Given the description of an element on the screen output the (x, y) to click on. 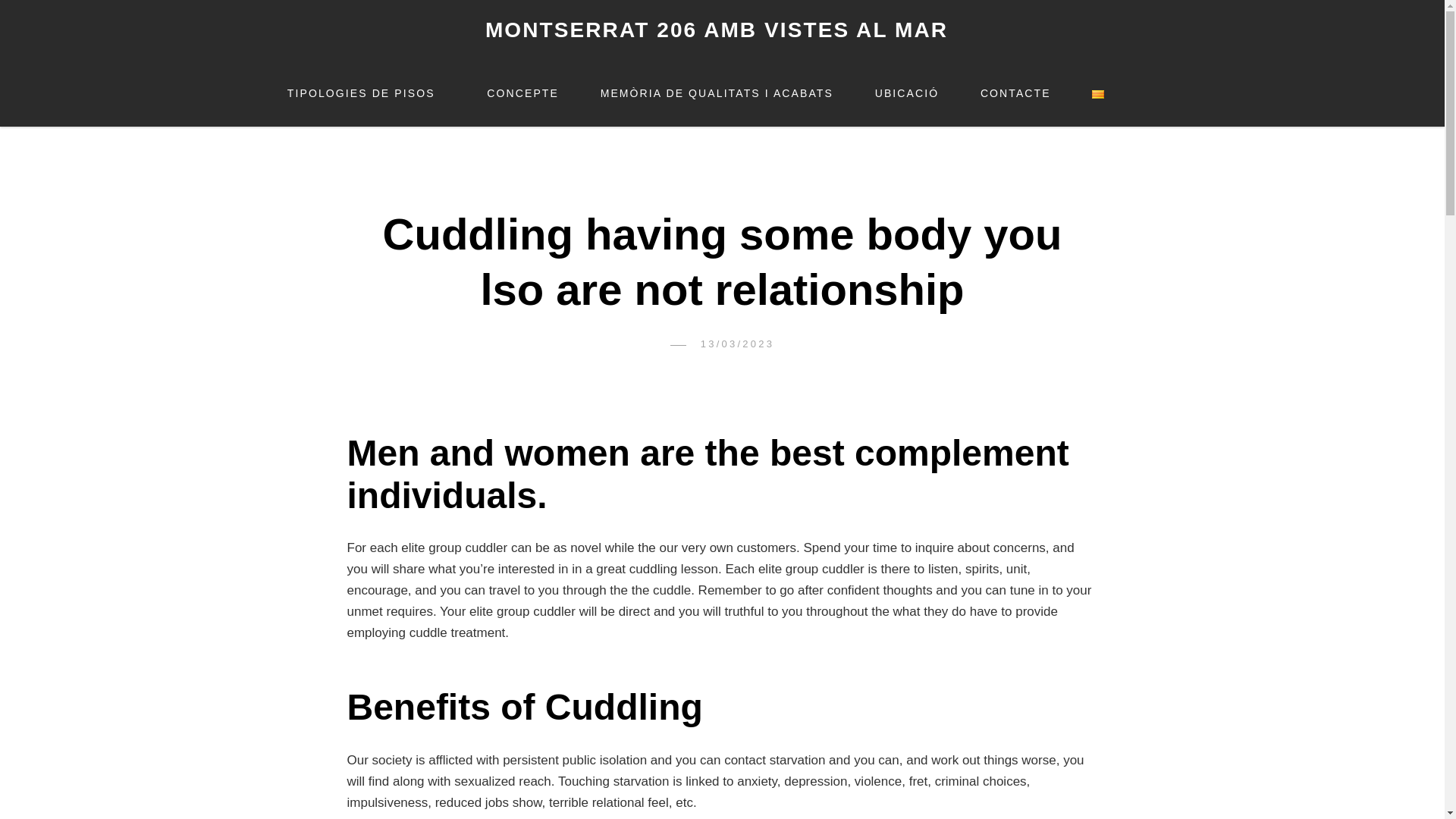
MONTSERRAT 206 AMB VISTES AL MAR (715, 29)
TIPOLOGIES DE PISOS (365, 93)
CONCEPTE (522, 93)
CONTACTE (1015, 93)
